Given the description of an element on the screen output the (x, y) to click on. 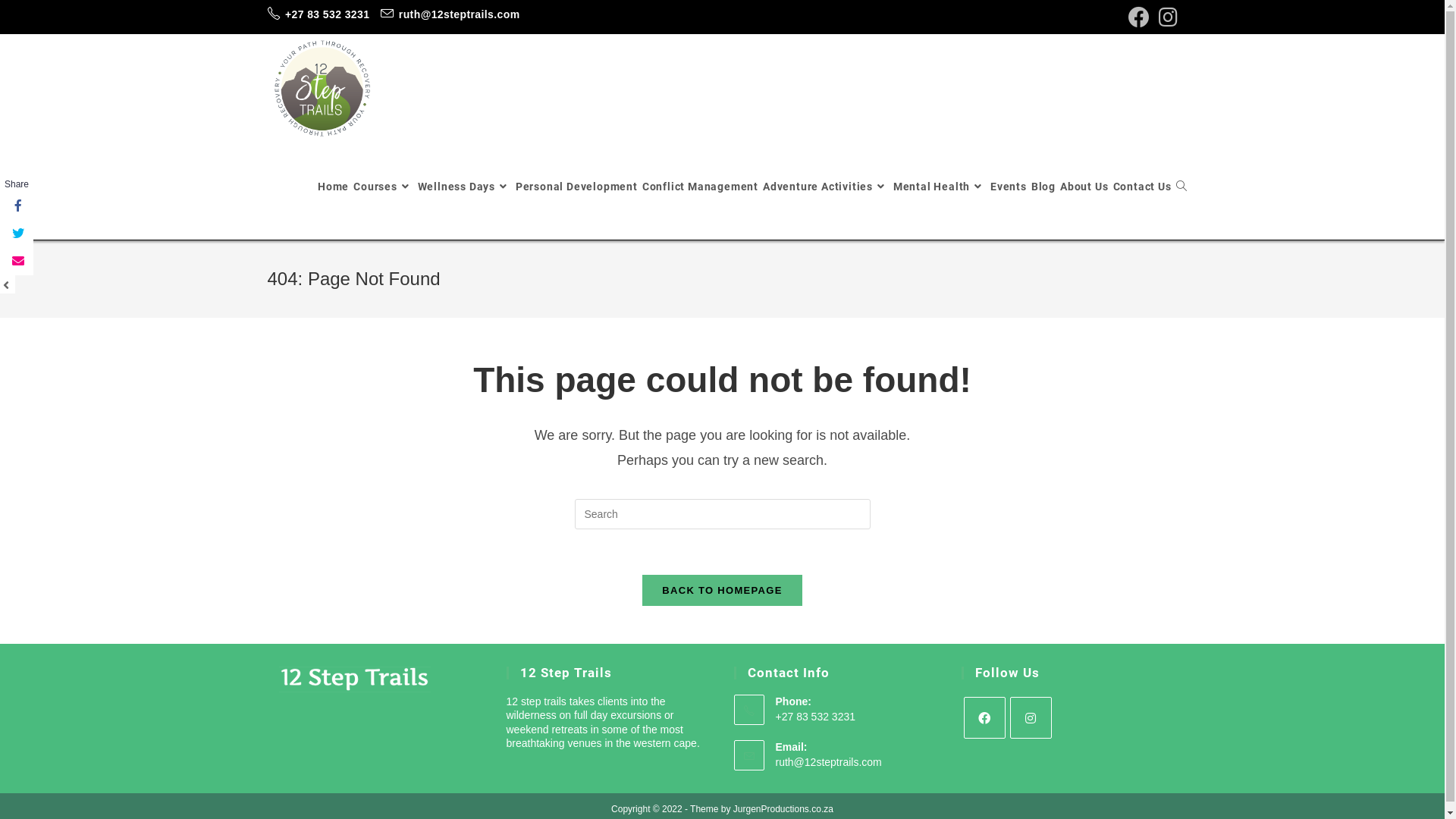
Adventure Activities Element type: text (825, 186)
About Us Element type: text (1083, 186)
Personal Development Element type: text (576, 186)
Events Element type: text (1008, 186)
Courses Element type: text (382, 186)
Contact Us Element type: text (1141, 186)
Wellness Days Element type: text (464, 186)
+27 83 532 3231 Element type: text (317, 14)
Share  on Facebook Element type: hover (16, 206)
Toggle website search Element type: text (1181, 186)
Conflict Management Element type: text (700, 186)
ruth@12steptrails.com Element type: text (449, 14)
Home Element type: text (333, 186)
Share  on Email Element type: hover (16, 261)
BACK TO HOMEPAGE Element type: text (721, 589)
ruth@12steptrails.com Element type: text (828, 762)
Blog Element type: text (1043, 186)
Mental Health Element type: text (939, 186)
Share  on Twitter Element type: hover (16, 233)
